Given the description of an element on the screen output the (x, y) to click on. 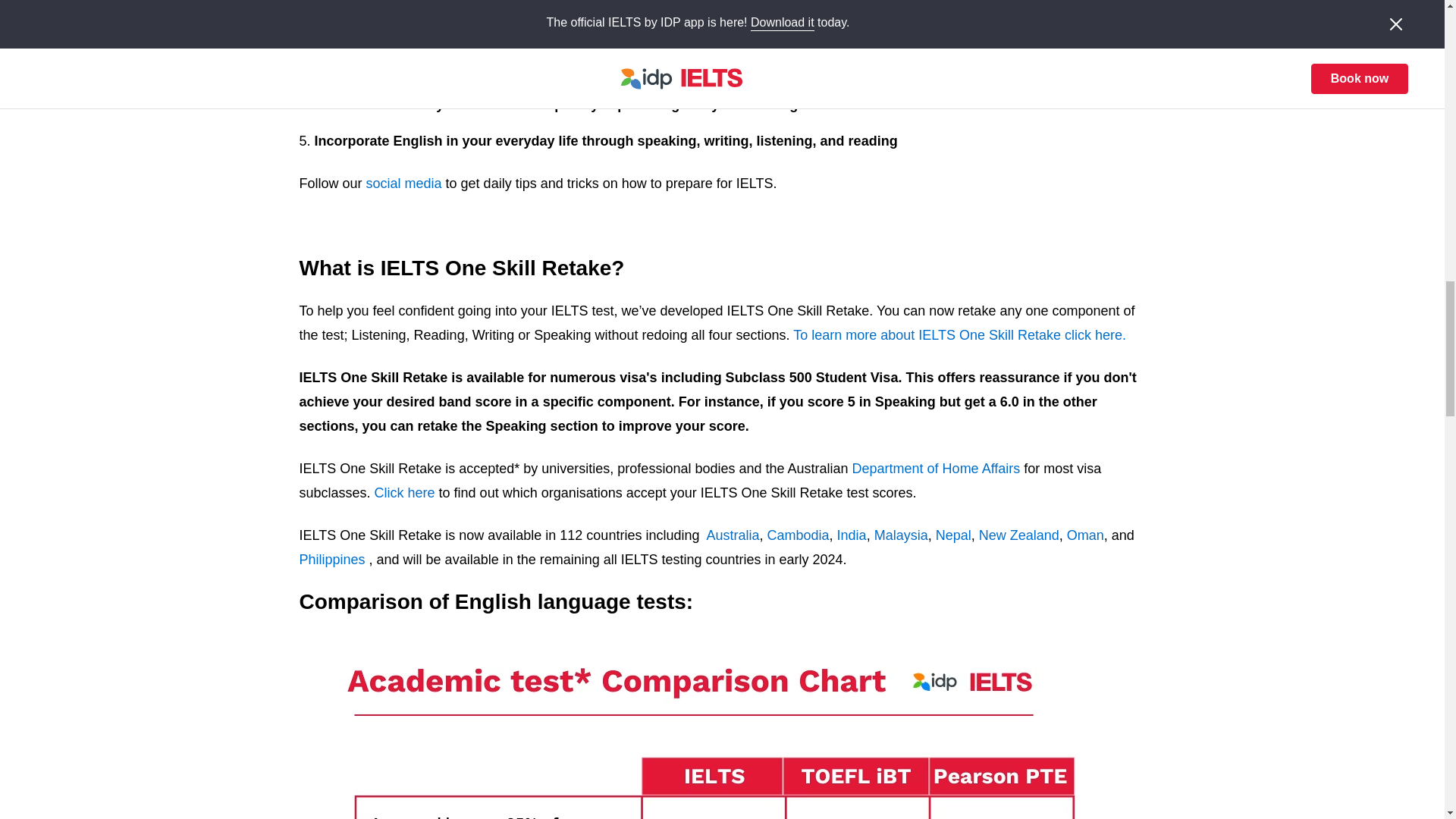
social media (404, 183)
Nepal (953, 534)
India (851, 534)
New Zealand (1018, 534)
Malaysia (901, 534)
Department of Home Affairs (935, 468)
Cambodia (798, 534)
To learn more about IELTS One Skill Retake click here. (959, 335)
Philippines (331, 559)
Australia (732, 534)
